Given the description of an element on the screen output the (x, y) to click on. 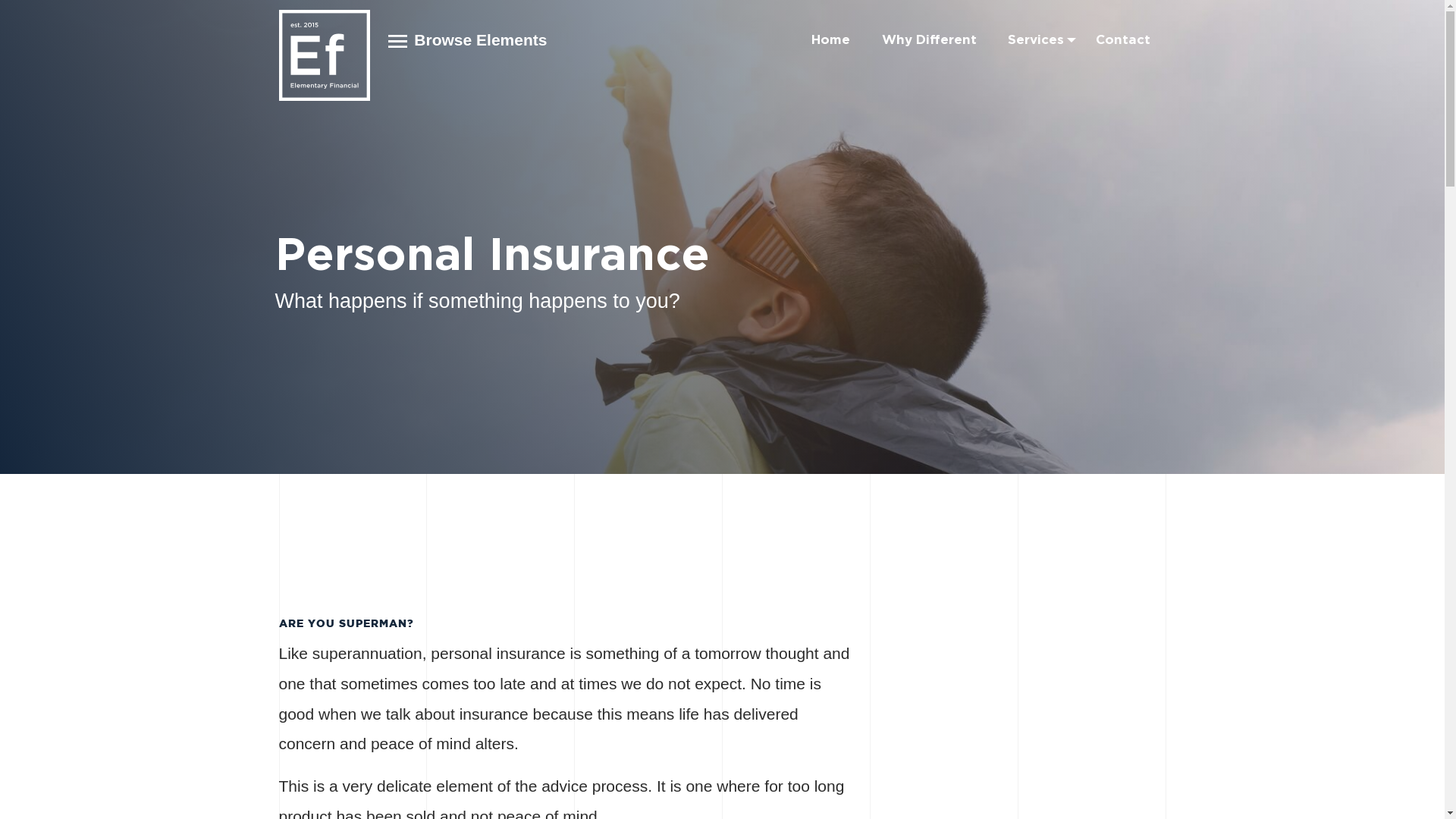
Browse Elements Element type: text (467, 39)
Home Element type: text (830, 39)
Why Different Element type: text (929, 39)
Contact Element type: text (1122, 39)
Services Element type: text (1035, 39)
